Given the description of an element on the screen output the (x, y) to click on. 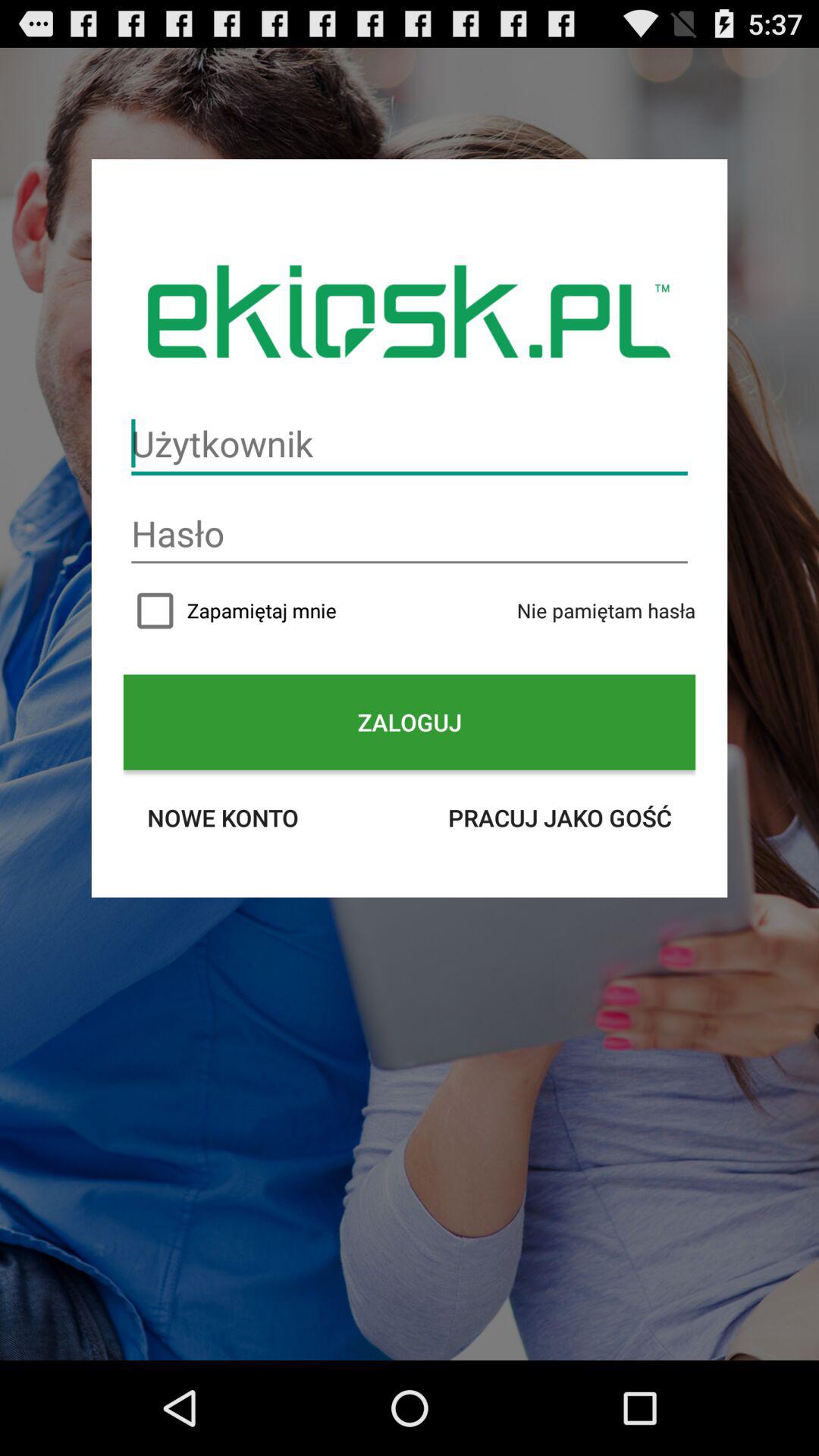
select button above the zaloguj (409, 610)
